Given the description of an element on the screen output the (x, y) to click on. 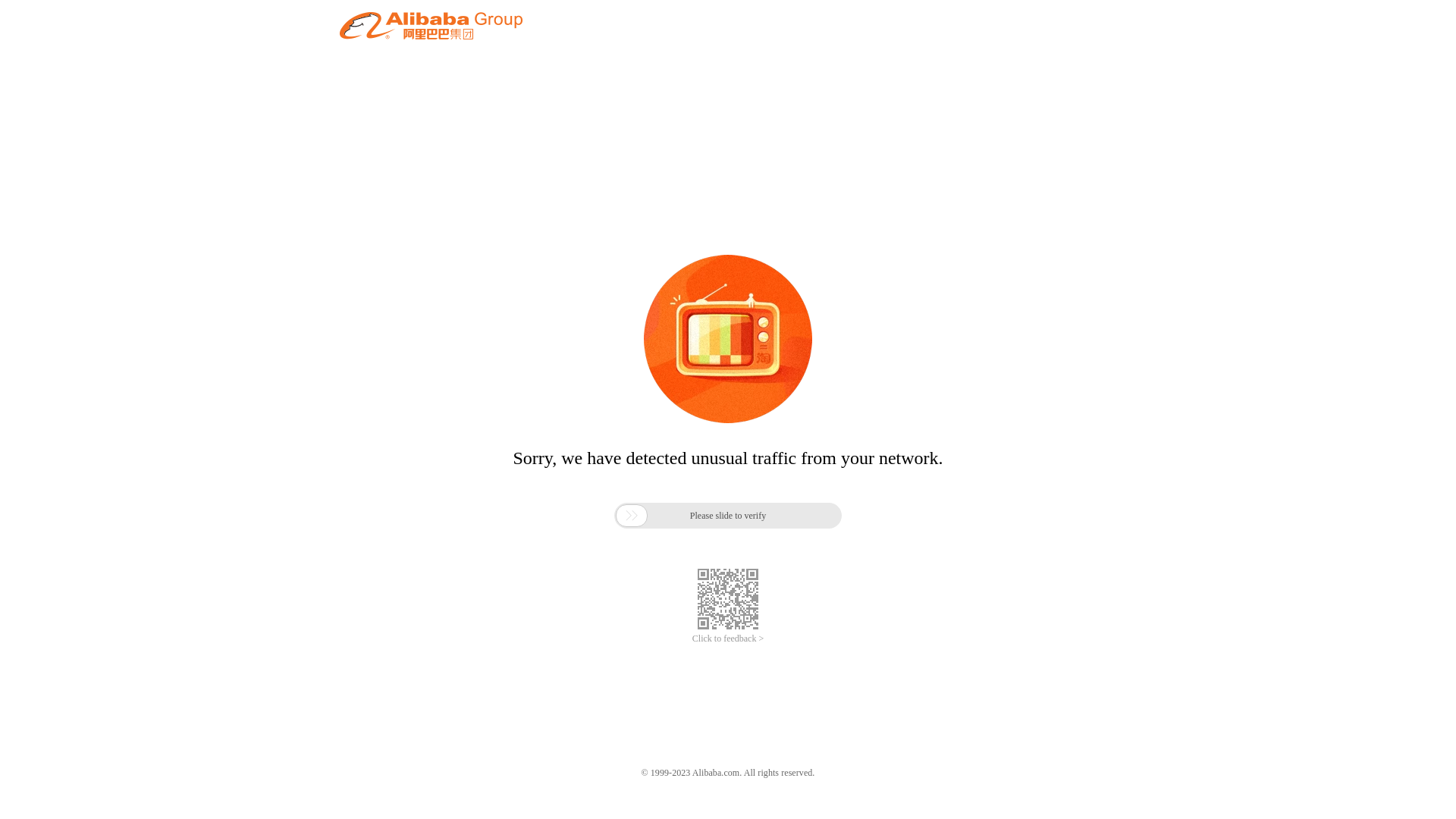
Click to feedback > Element type: text (727, 638)
